Given the description of an element on the screen output the (x, y) to click on. 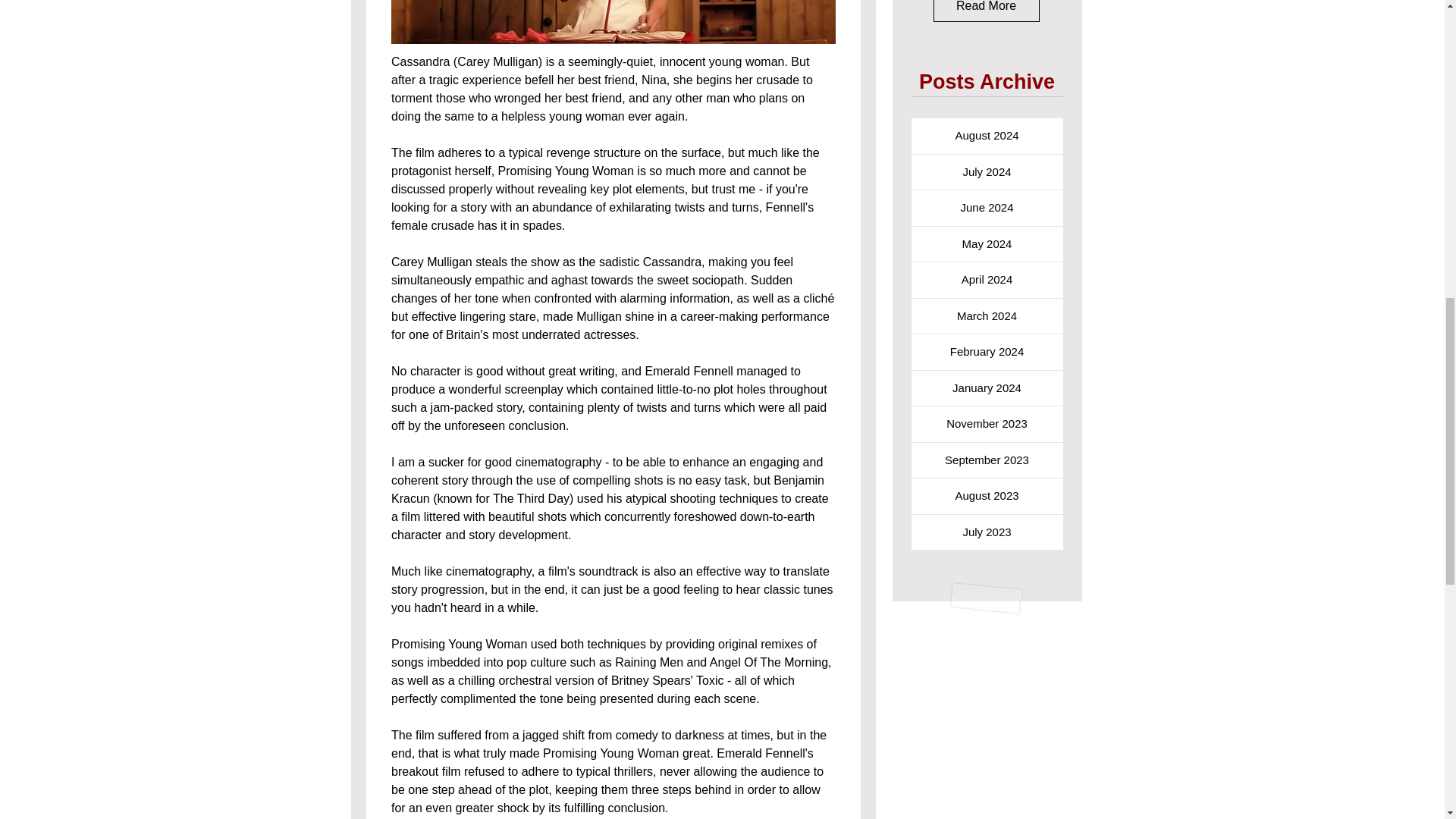
August 2023 (986, 496)
May 2024 (986, 244)
July 2023 (986, 532)
February 2024 (986, 352)
July 2024 (986, 172)
August 2024 (986, 135)
January 2024 (986, 388)
June 2024 (986, 208)
Read More (986, 11)
September 2023 (986, 460)
